Given the description of an element on the screen output the (x, y) to click on. 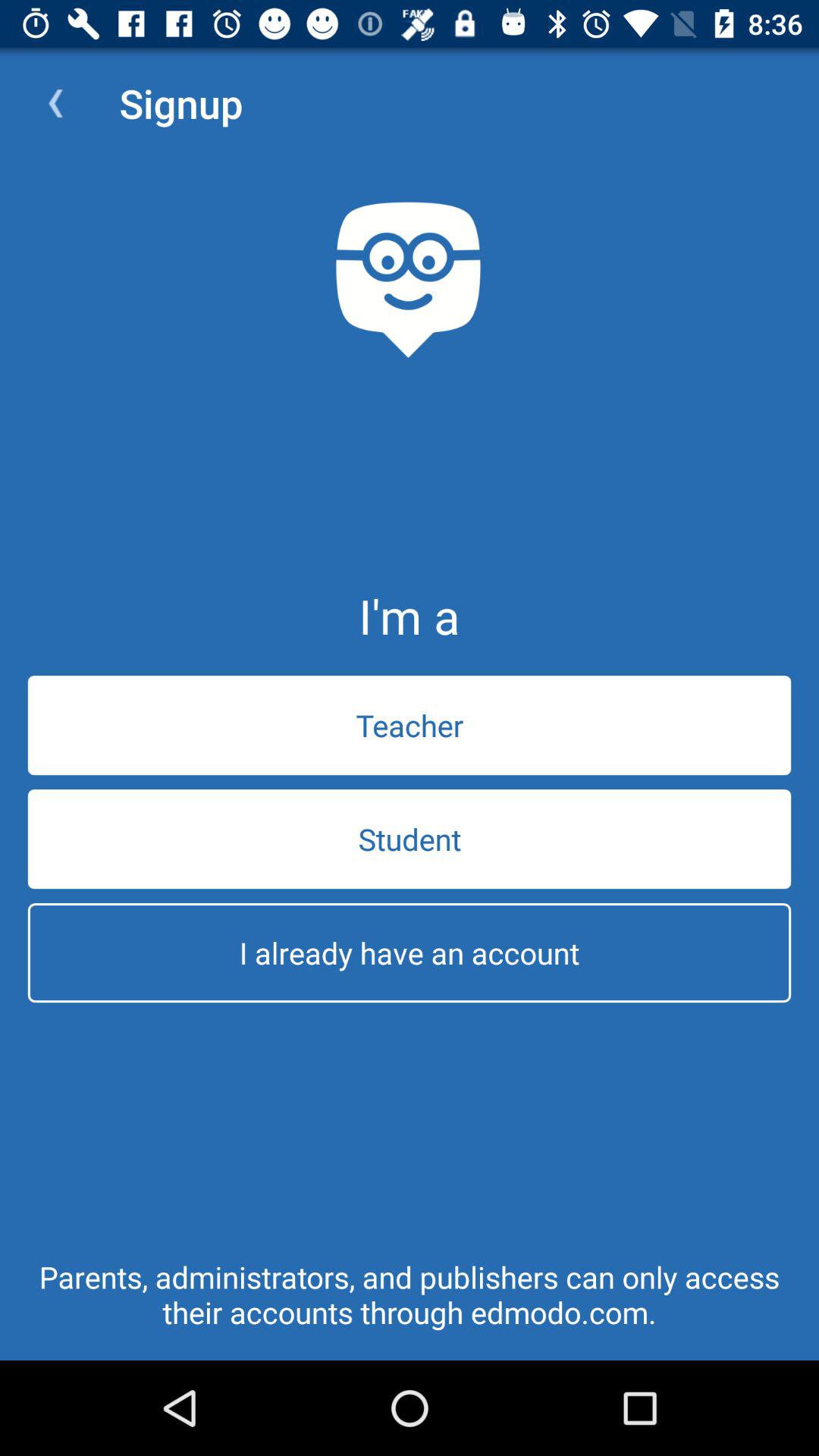
click item above i already have icon (409, 838)
